Given the description of an element on the screen output the (x, y) to click on. 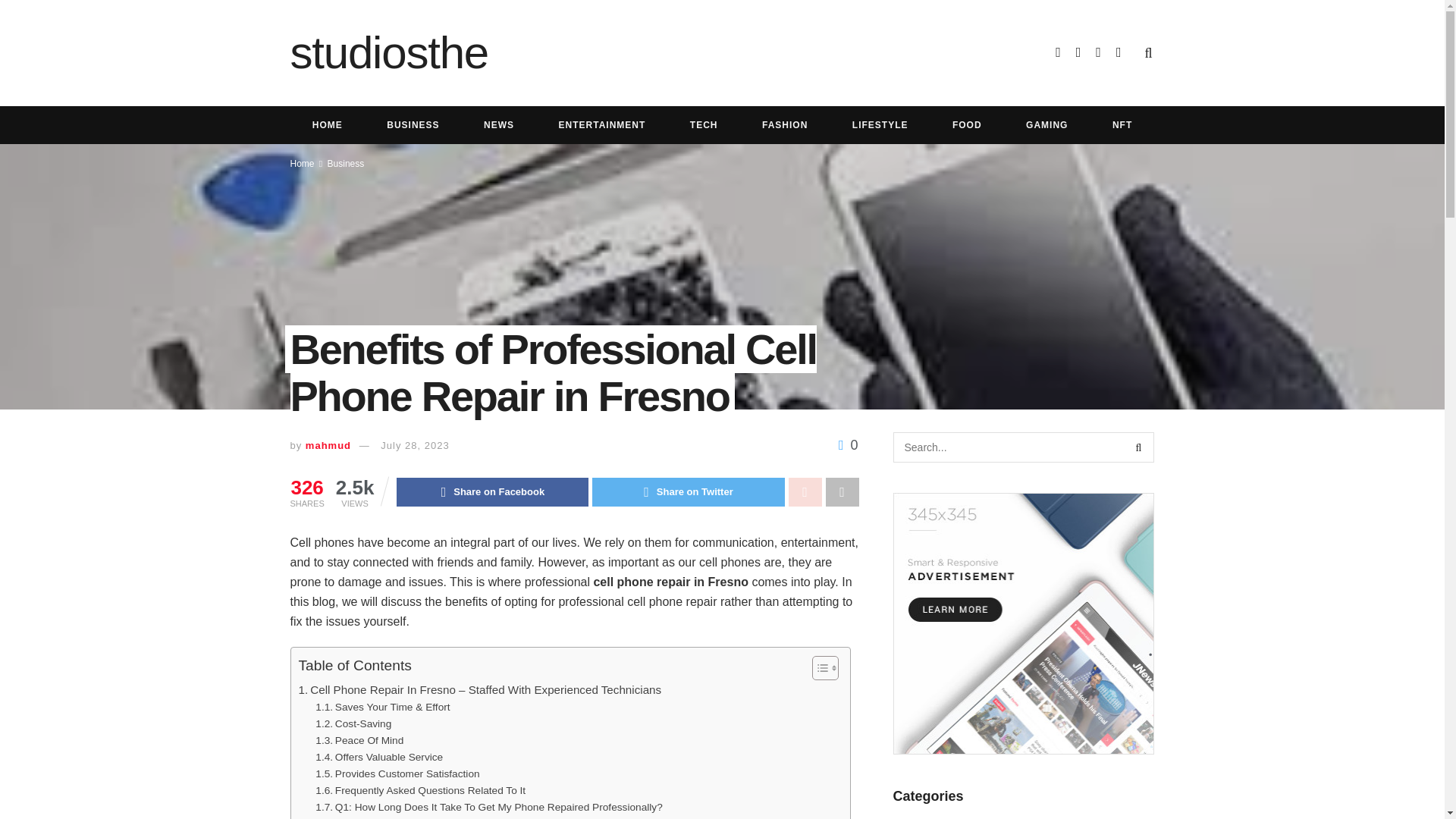
Frequently Asked Questions Related To It (420, 790)
FASHION (784, 125)
Peace Of Mind (359, 740)
FOOD (967, 125)
GAMING (1047, 125)
ENTERTAINMENT (600, 125)
Business (346, 163)
HOME (326, 125)
Share on Facebook (492, 491)
Offers Valuable Service (378, 757)
July 28, 2023 (414, 445)
0 (848, 444)
Provides Customer Satisfaction (397, 773)
NEWS (498, 125)
Home (301, 163)
